Given the description of an element on the screen output the (x, y) to click on. 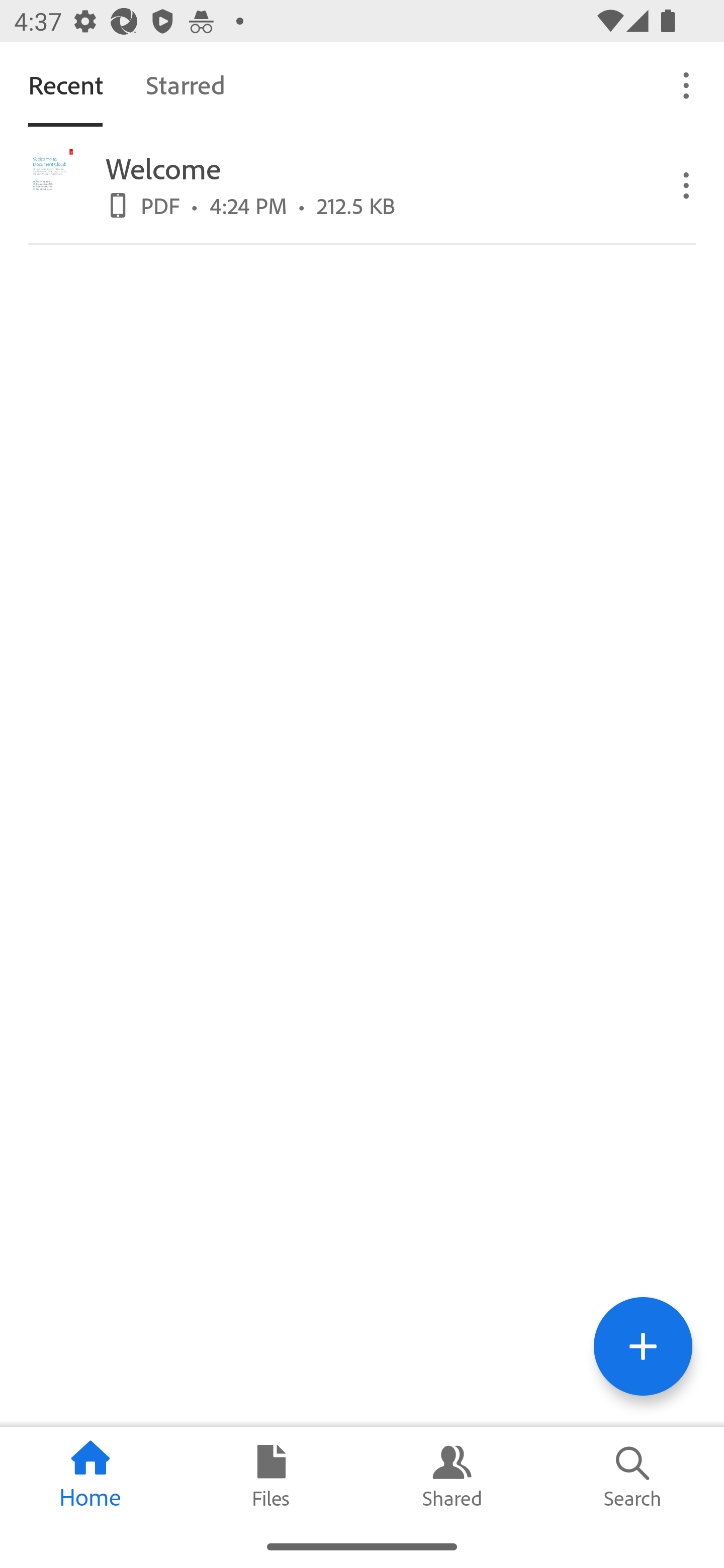
Recent (65, 84)
Starred (185, 84)
Overflow (687, 84)
Overflow (687, 184)
Tools (642, 1345)
Home (90, 1475)
Files (271, 1475)
Shared (452, 1475)
Search (633, 1475)
